Given the description of an element on the screen output the (x, y) to click on. 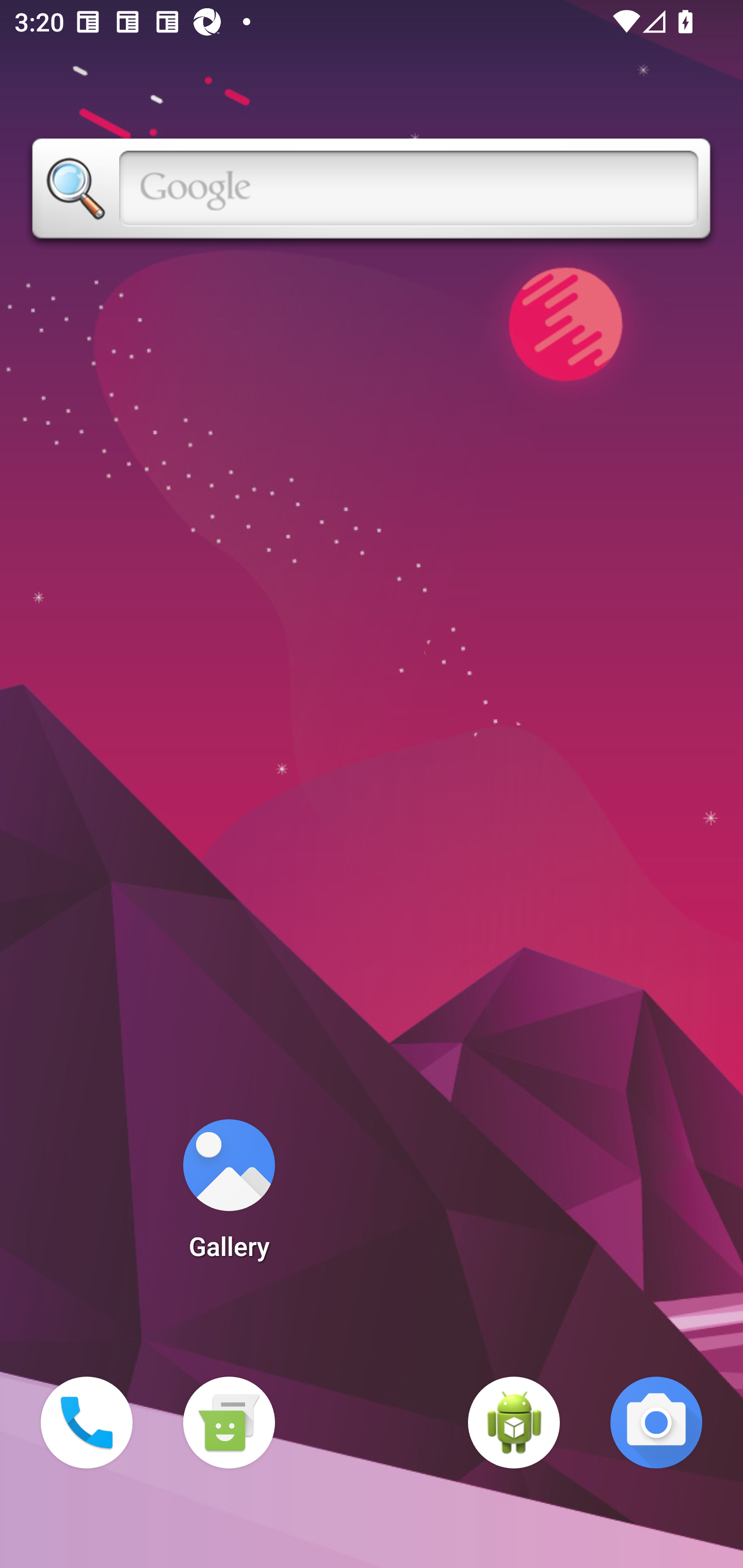
Gallery (228, 1195)
Phone (86, 1422)
Messaging (228, 1422)
WebView Browser Tester (513, 1422)
Camera (656, 1422)
